Given the description of an element on the screen output the (x, y) to click on. 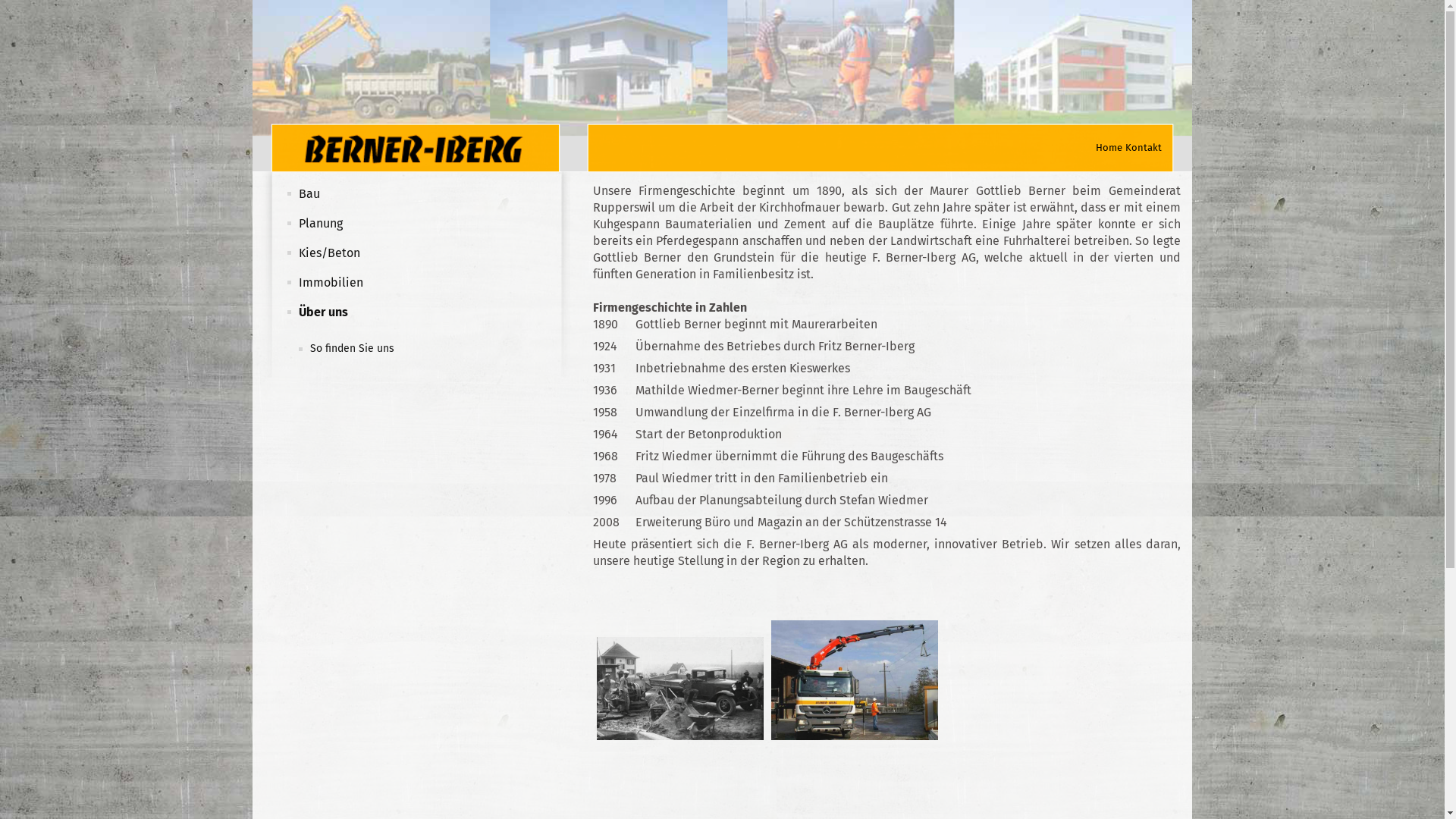
So finden Sie uns Element type: text (352, 348)
Kies/Beton Element type: text (329, 252)
Bild von UeberUns Element type: hover (854, 664)
Immobilien Element type: text (330, 282)
Home Element type: text (1108, 147)
Bild von UeberUns Element type: hover (679, 664)
Planung Element type: text (320, 223)
Bau Element type: text (309, 193)
Kontakt Element type: text (1143, 147)
